Given the description of an element on the screen output the (x, y) to click on. 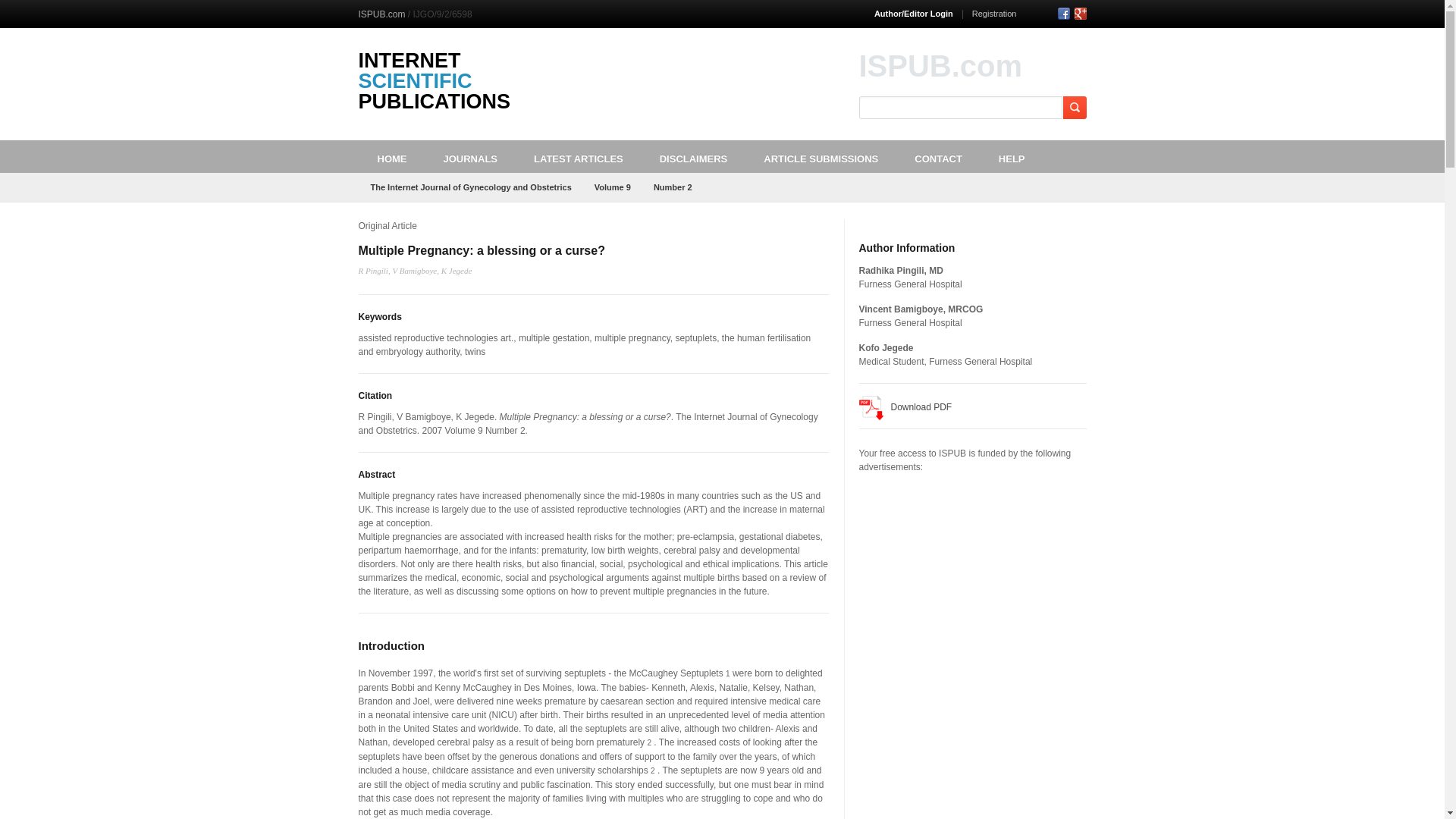
Search (1074, 107)
The Internet Journal of Gynecology and Obstetrics (469, 187)
DISCLAIMERS (693, 156)
Multiple Pregnancy: a blessing or a curse? (481, 250)
LATEST ARTICLES (578, 156)
Number 2 (673, 187)
Facebook (1062, 13)
Search (1074, 107)
JOURNALS (470, 156)
Registration (994, 13)
HELP (1011, 156)
Download PDF (905, 407)
CONTACT (937, 156)
Volume 9 (612, 187)
HOME (391, 156)
